Given the description of an element on the screen output the (x, y) to click on. 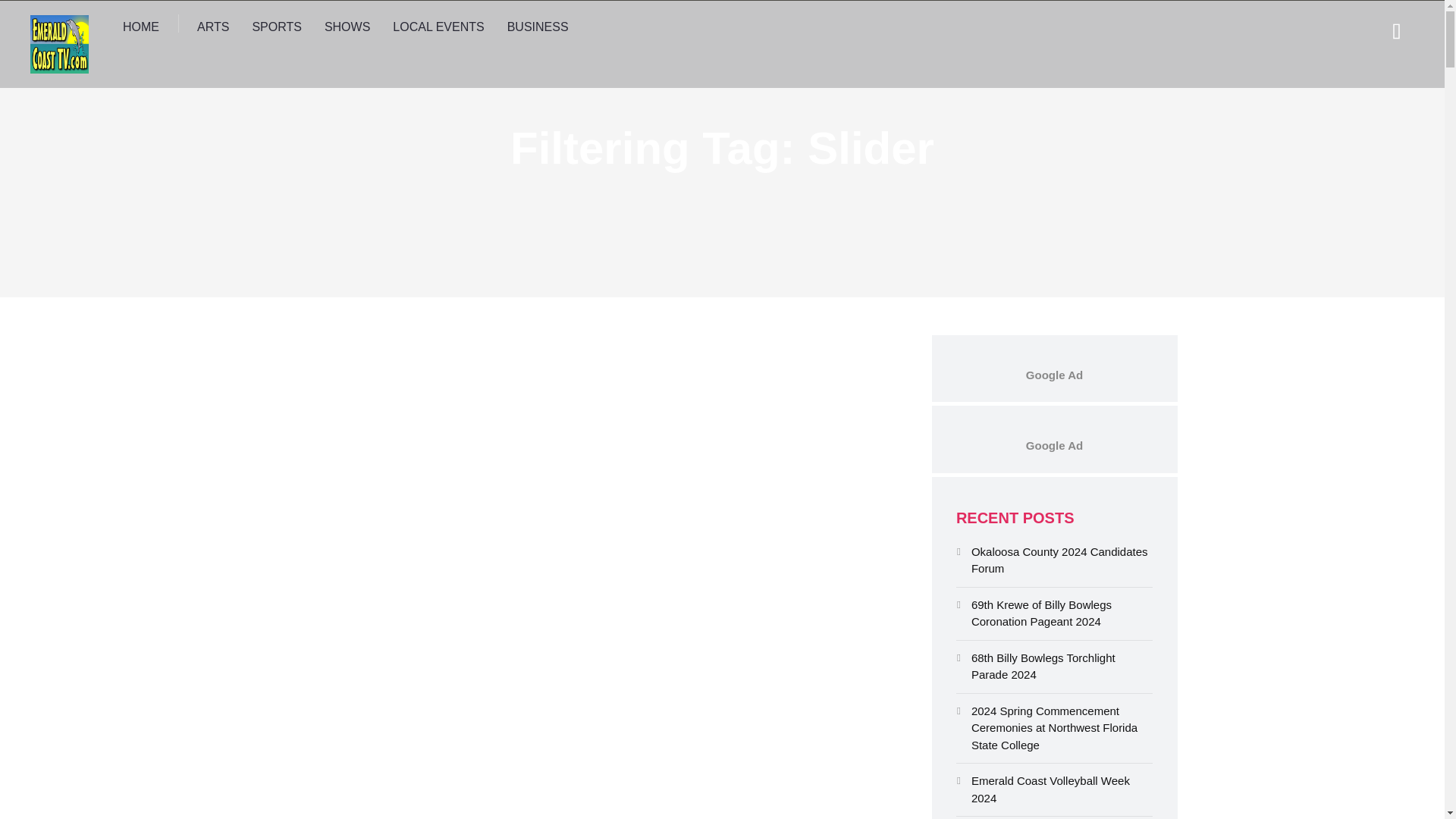
SPORTS (276, 27)
SHOWS (347, 27)
Submit (30, 21)
HOME (141, 27)
ARTS (213, 27)
BUSINESS (537, 27)
LOCAL EVENTS (438, 27)
